Given the description of an element on the screen output the (x, y) to click on. 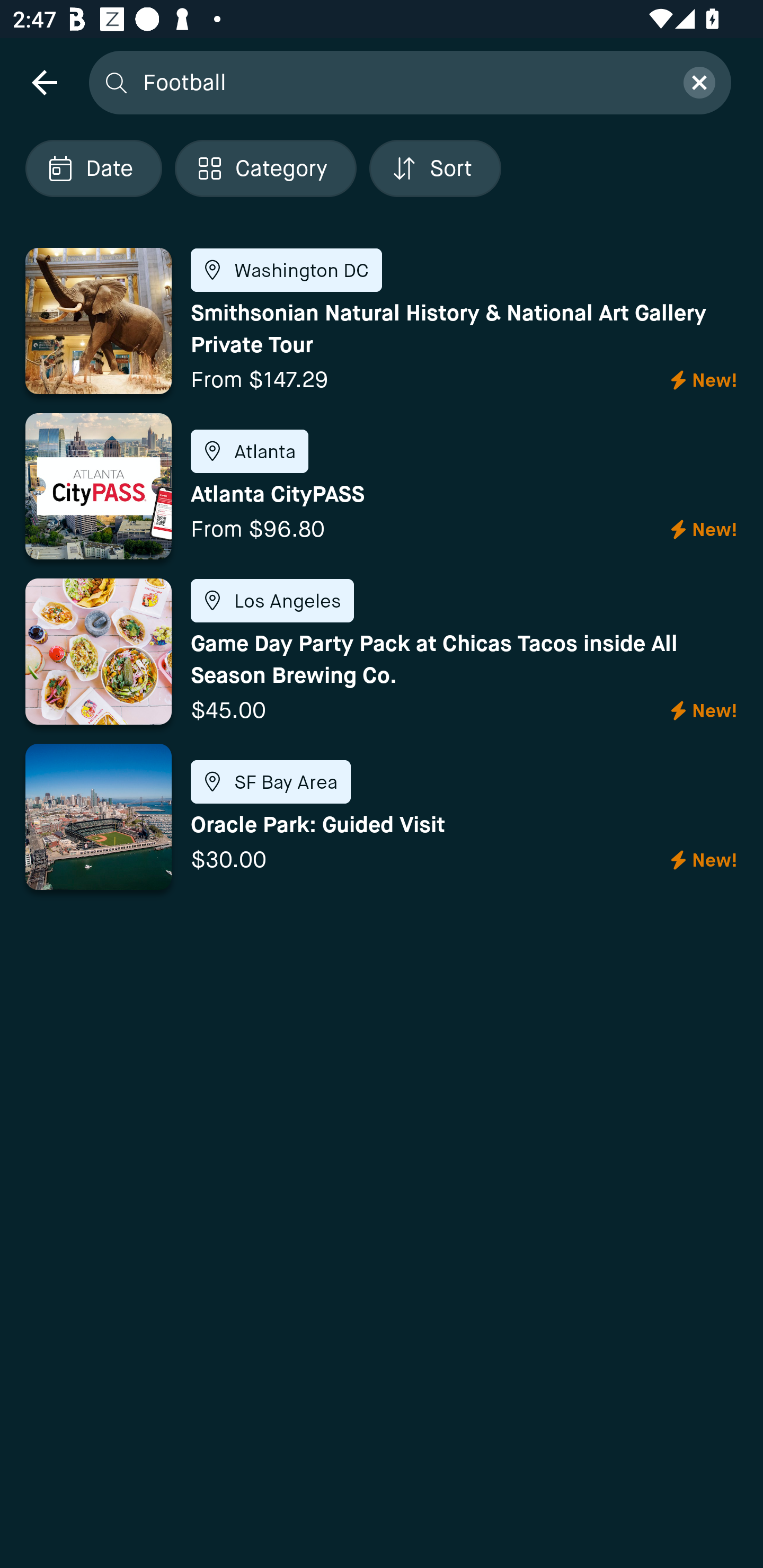
navigation icon (44, 81)
Football (402, 81)
Localized description Date (93, 168)
Localized description Category (265, 168)
Localized description Sort (435, 168)
